Given the description of an element on the screen output the (x, y) to click on. 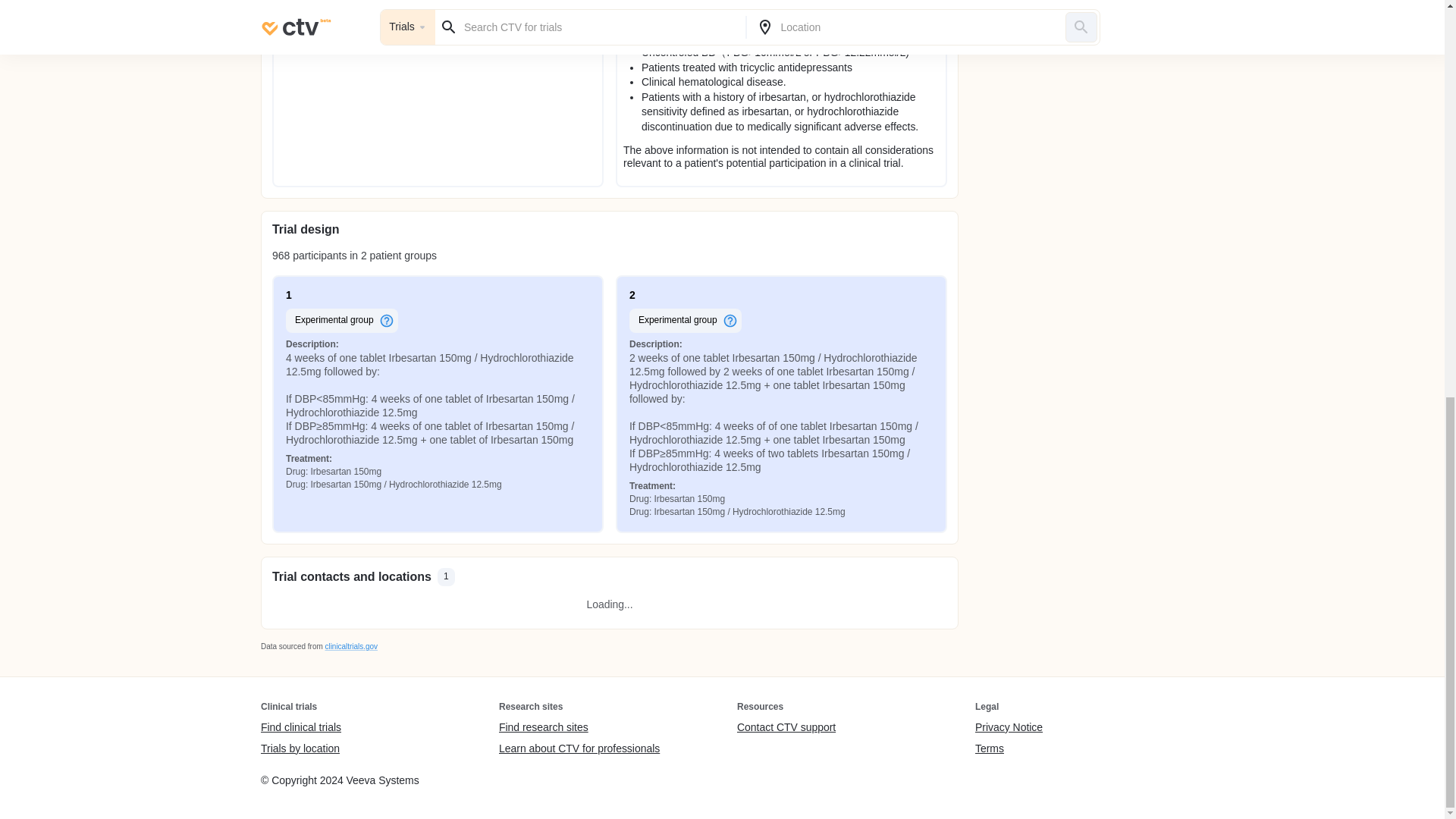
Learn about CTV for professionals (579, 748)
Terms (1008, 748)
clinicaltrials.gov (350, 646)
Privacy Notice (1008, 727)
Find clinical trials (300, 727)
Contact CTV support (785, 727)
Find research sites (579, 727)
Trials by location (300, 748)
